Given the description of an element on the screen output the (x, y) to click on. 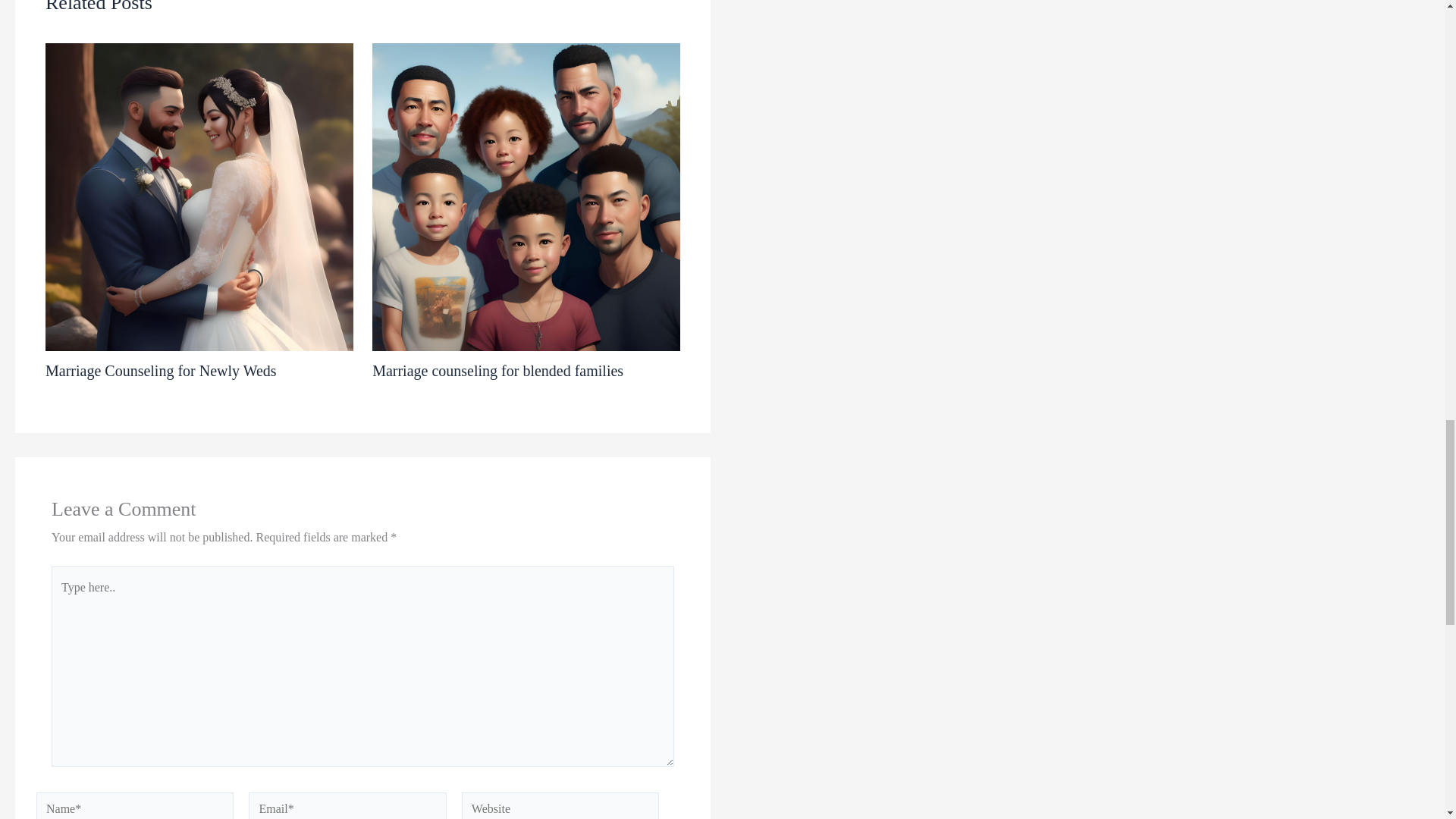
Marriage Counseling for Newly Weds (160, 370)
Marriage counseling for blended families (497, 370)
